Given the description of an element on the screen output the (x, y) to click on. 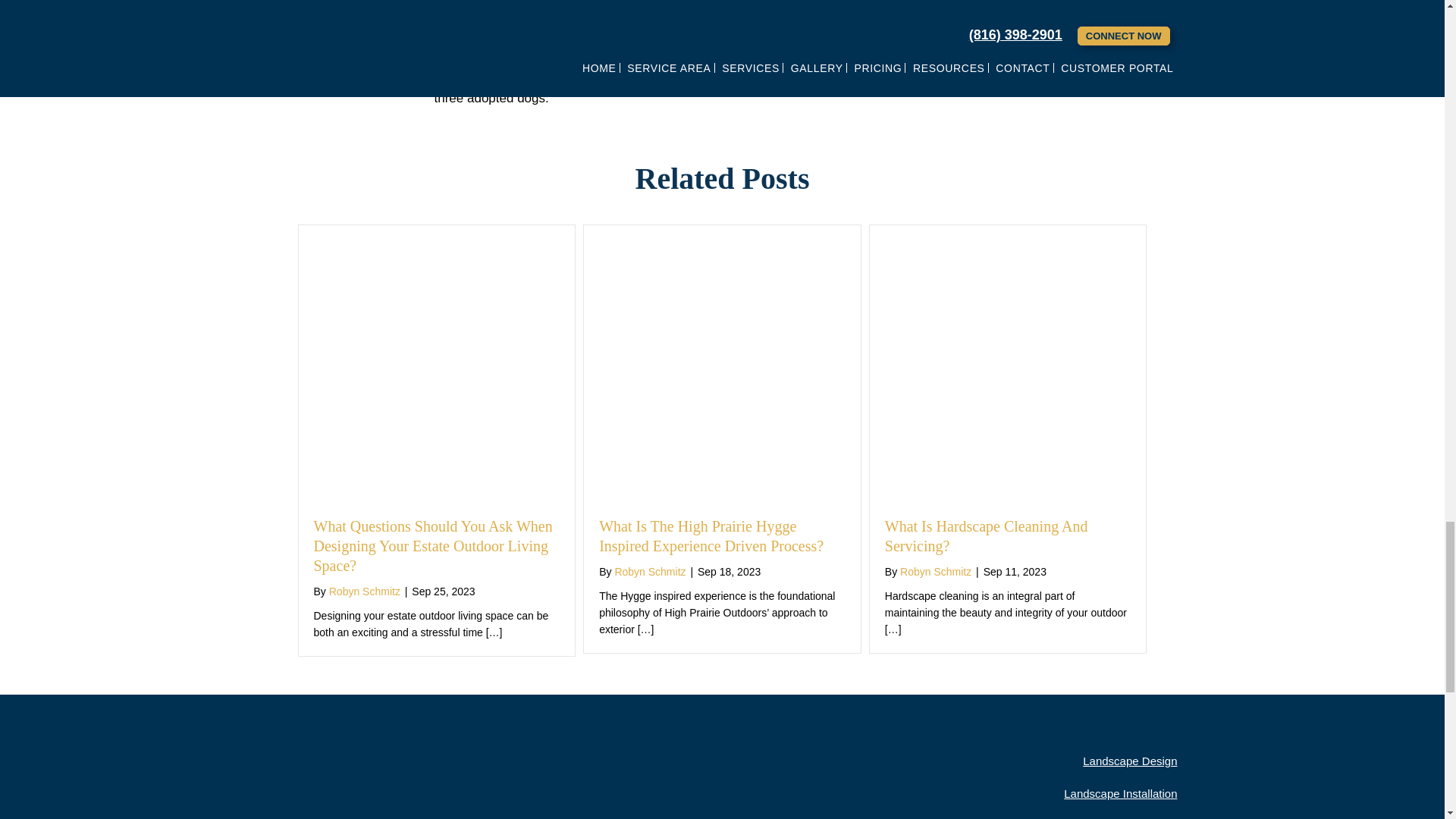
What is Hardscape Cleaning and Servicing? (986, 535)
What is Hardscape Cleaning and Servicing? (1008, 236)
